Given the description of an element on the screen output the (x, y) to click on. 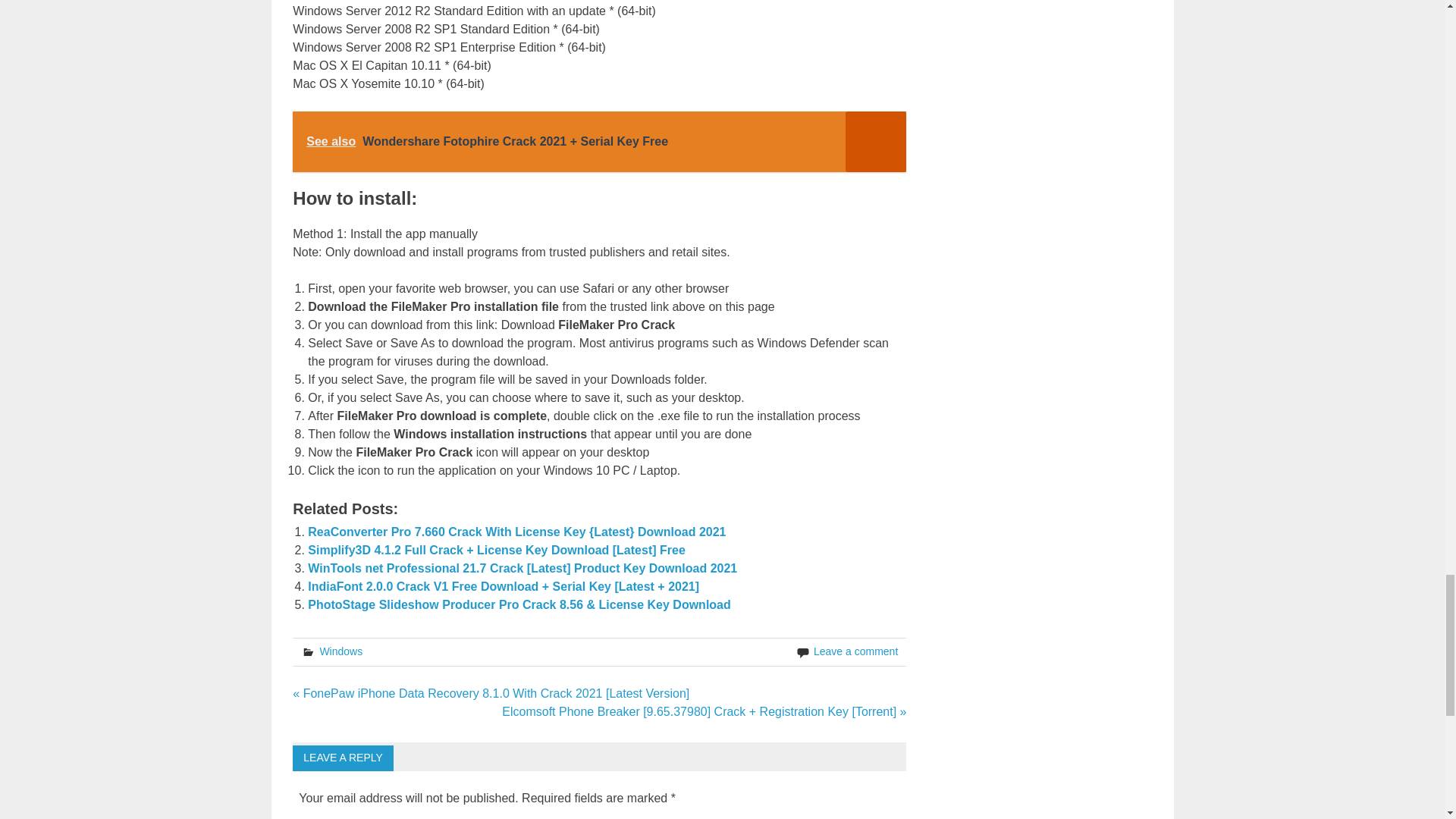
Windows (340, 651)
Leave a comment (855, 651)
